Given the description of an element on the screen output the (x, y) to click on. 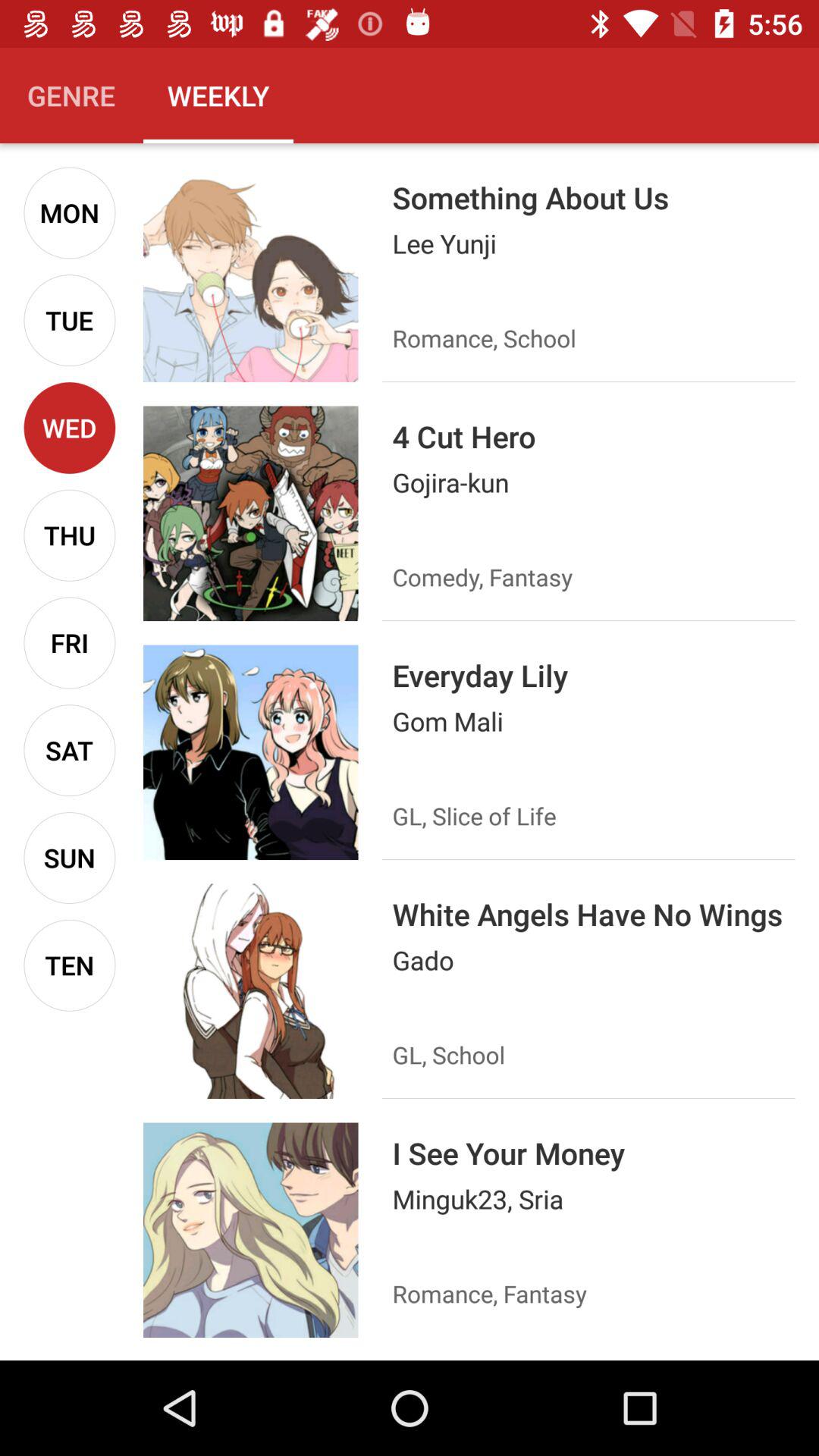
scroll to thu item (69, 535)
